Given the description of an element on the screen output the (x, y) to click on. 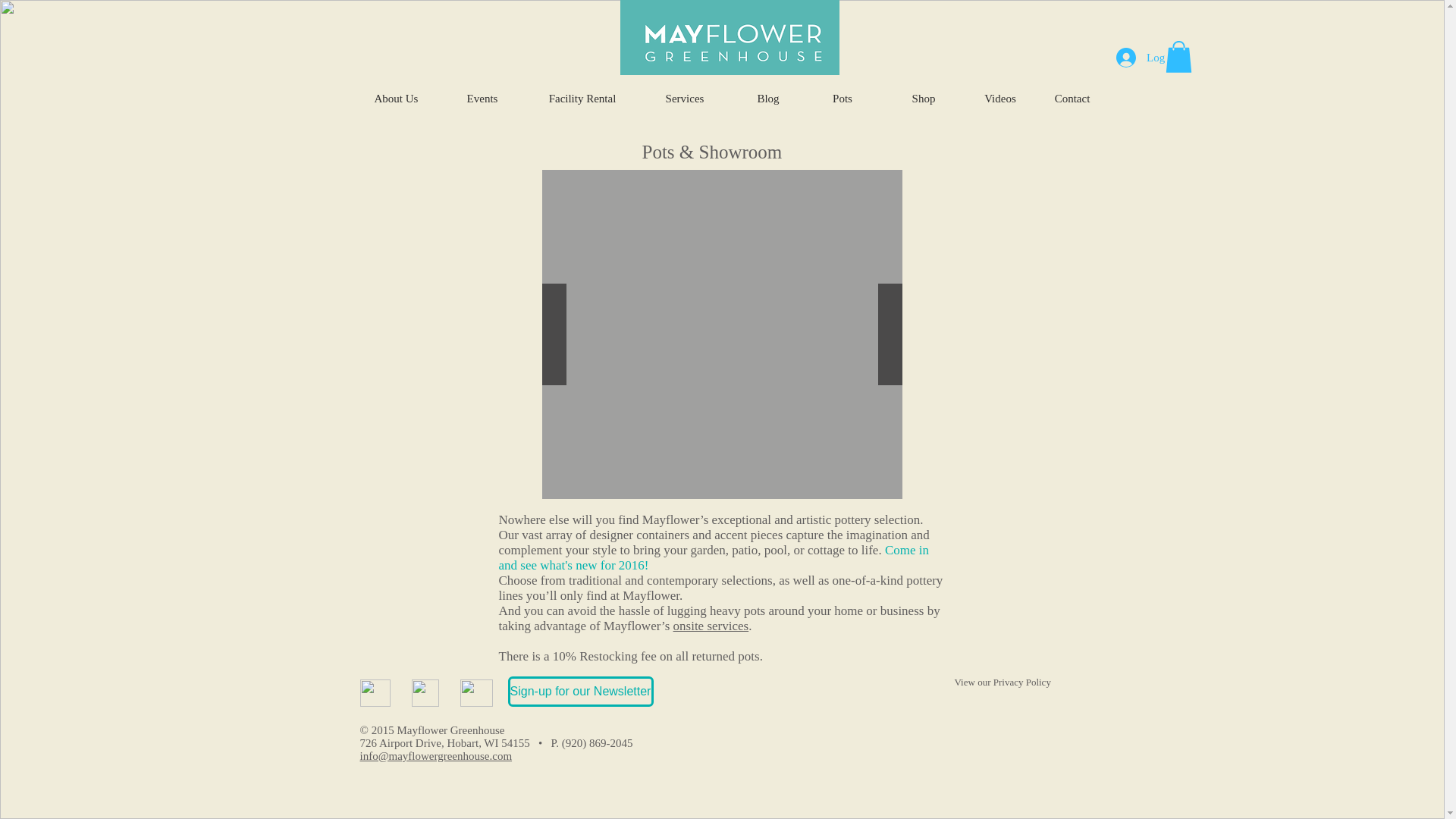
onsite services (710, 626)
Services (684, 99)
Facility Rental (582, 99)
About Us (396, 99)
Log In (1146, 57)
Sign-up for our Newsletter (580, 691)
